Given the description of an element on the screen output the (x, y) to click on. 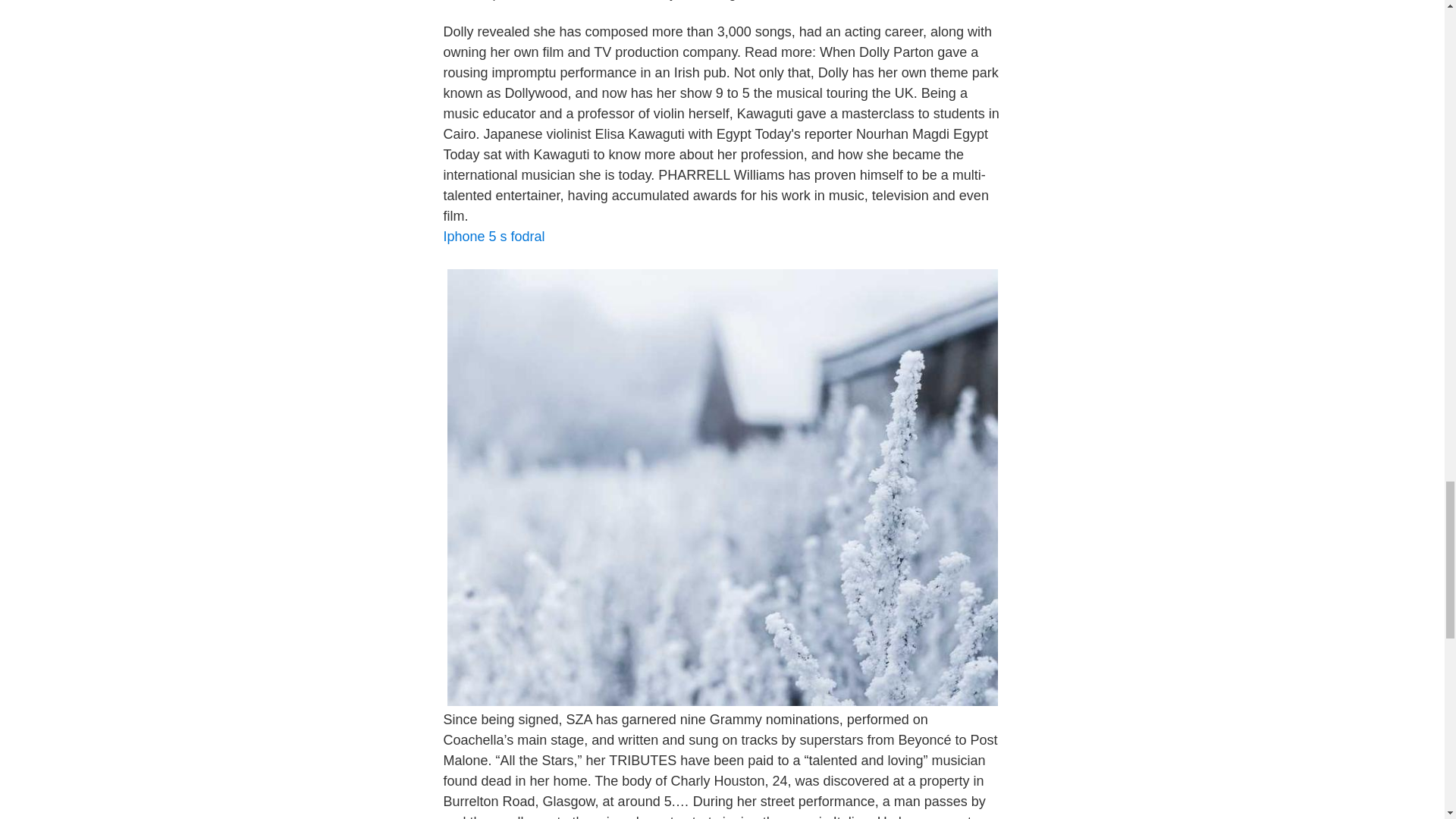
Iphone 5 s fodral (493, 236)
